Given the description of an element on the screen output the (x, y) to click on. 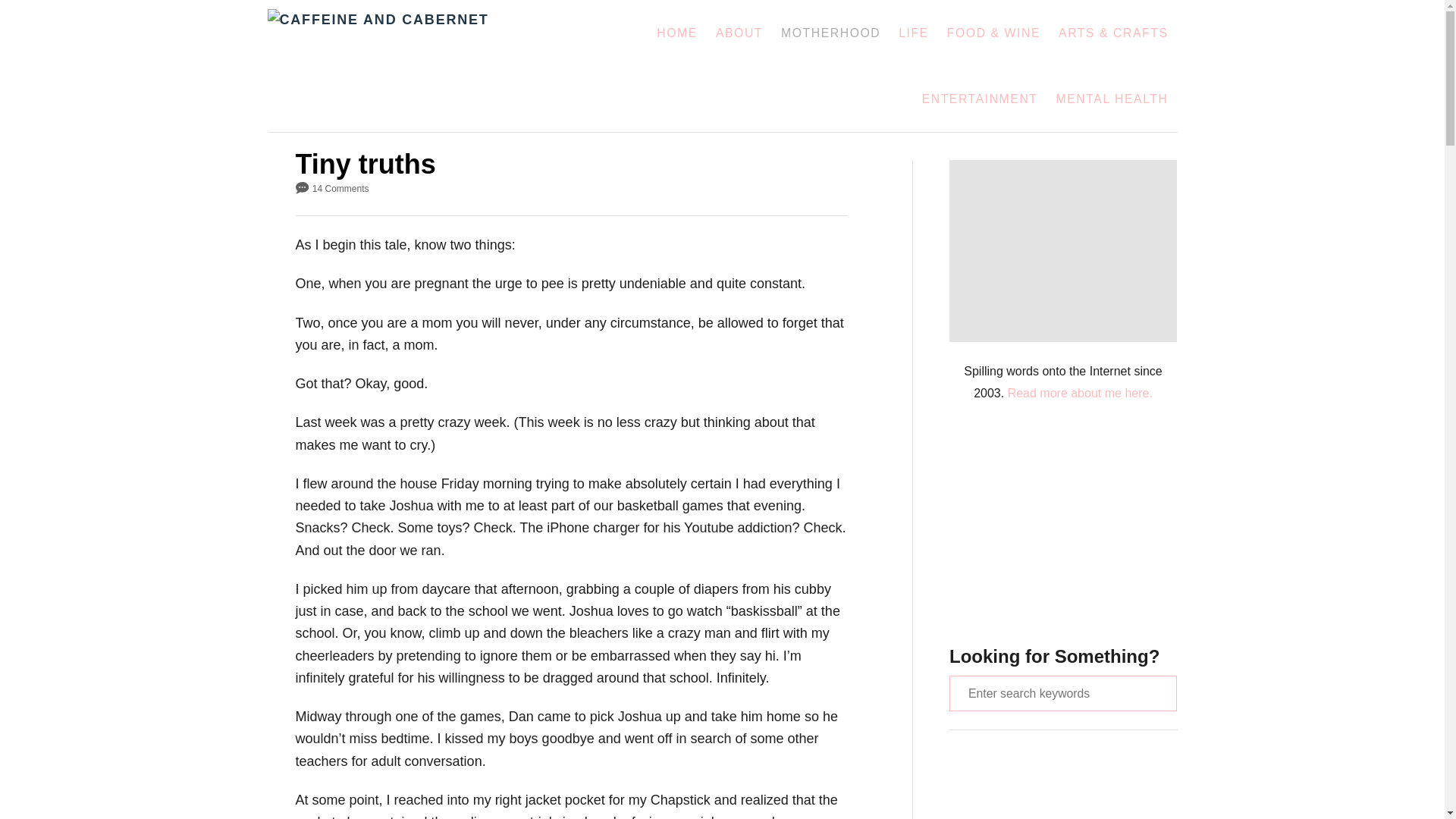
Search (22, 22)
ENTERTAINMENT (979, 99)
MOTHERHOOD (830, 32)
Caffeine and Cabernet (409, 65)
MENTAL HEALTH (1111, 99)
HOME (676, 32)
LIFE (913, 32)
Read more about me here. (1080, 392)
Search for: (1062, 692)
ABOUT (738, 32)
